Given the description of an element on the screen output the (x, y) to click on. 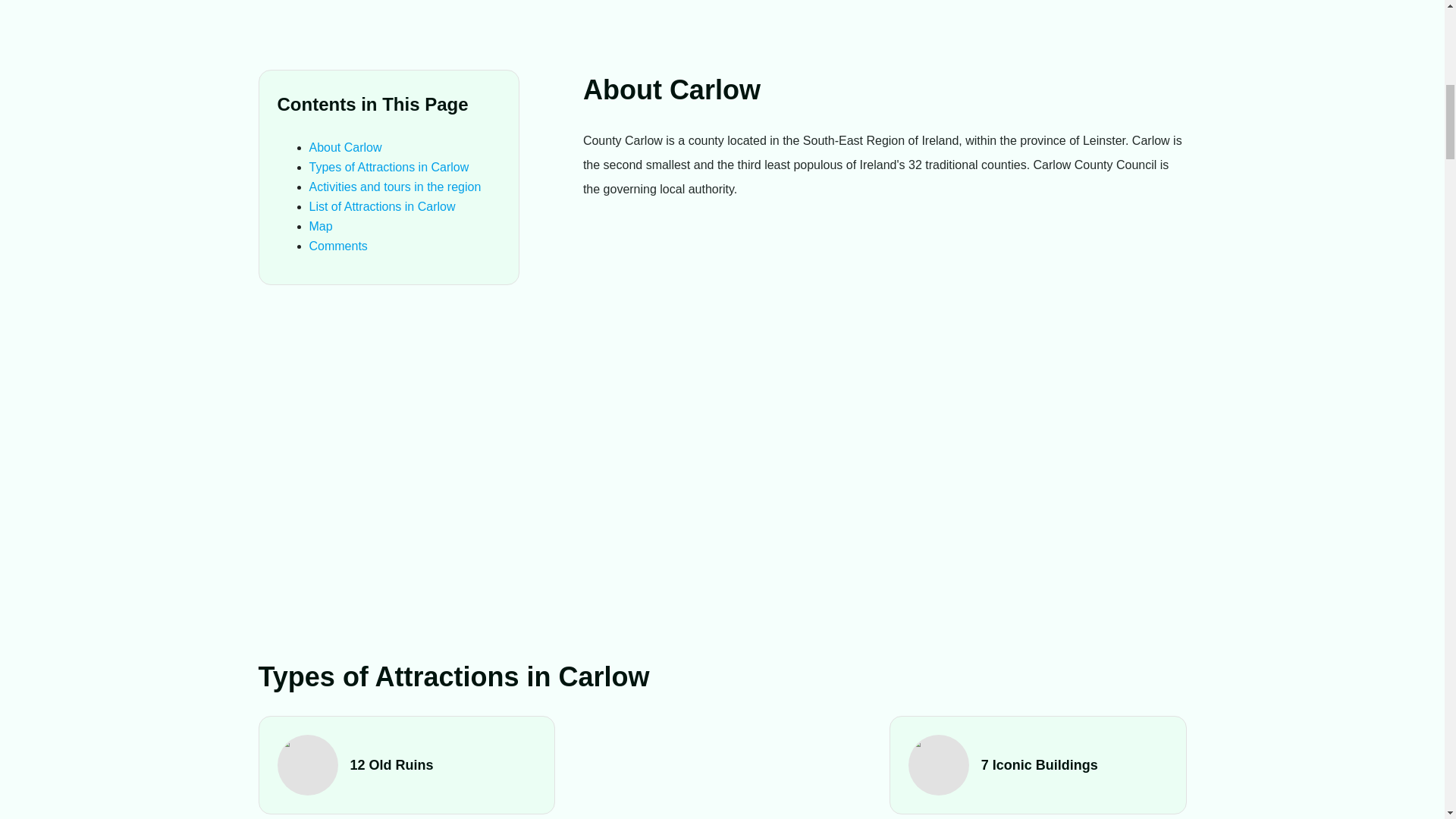
Types of Attractions in Carlow (388, 166)
Activities and tours in the region (394, 186)
About Carlow (344, 146)
List of Attractions in Carlow (381, 205)
Comments (338, 245)
12 Old Ruins (407, 764)
Map (320, 226)
7 Iconic Buildings (1037, 764)
